Given the description of an element on the screen output the (x, y) to click on. 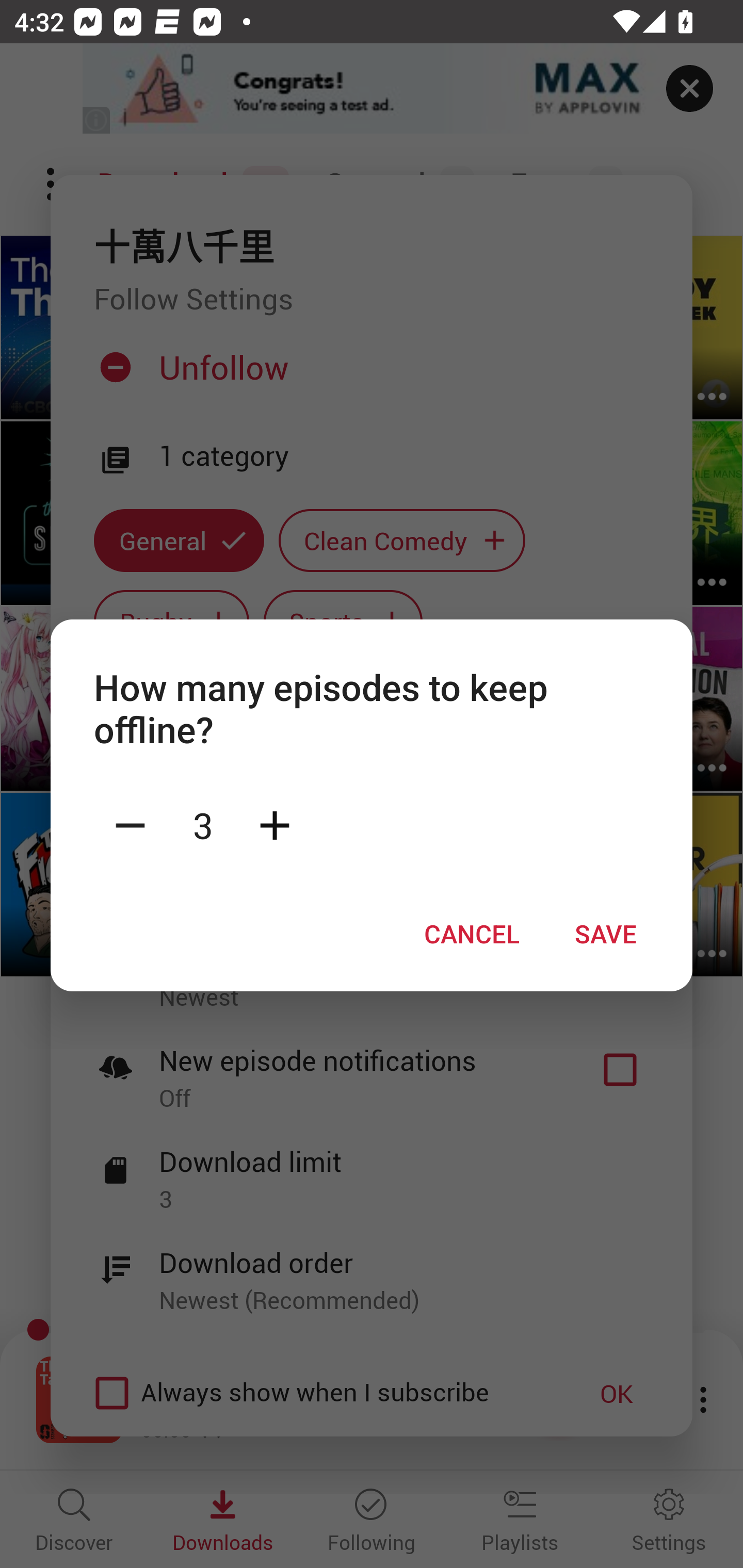
Minus (129, 824)
Plus (274, 824)
CANCEL (470, 933)
SAVE (605, 933)
